Given the description of an element on the screen output the (x, y) to click on. 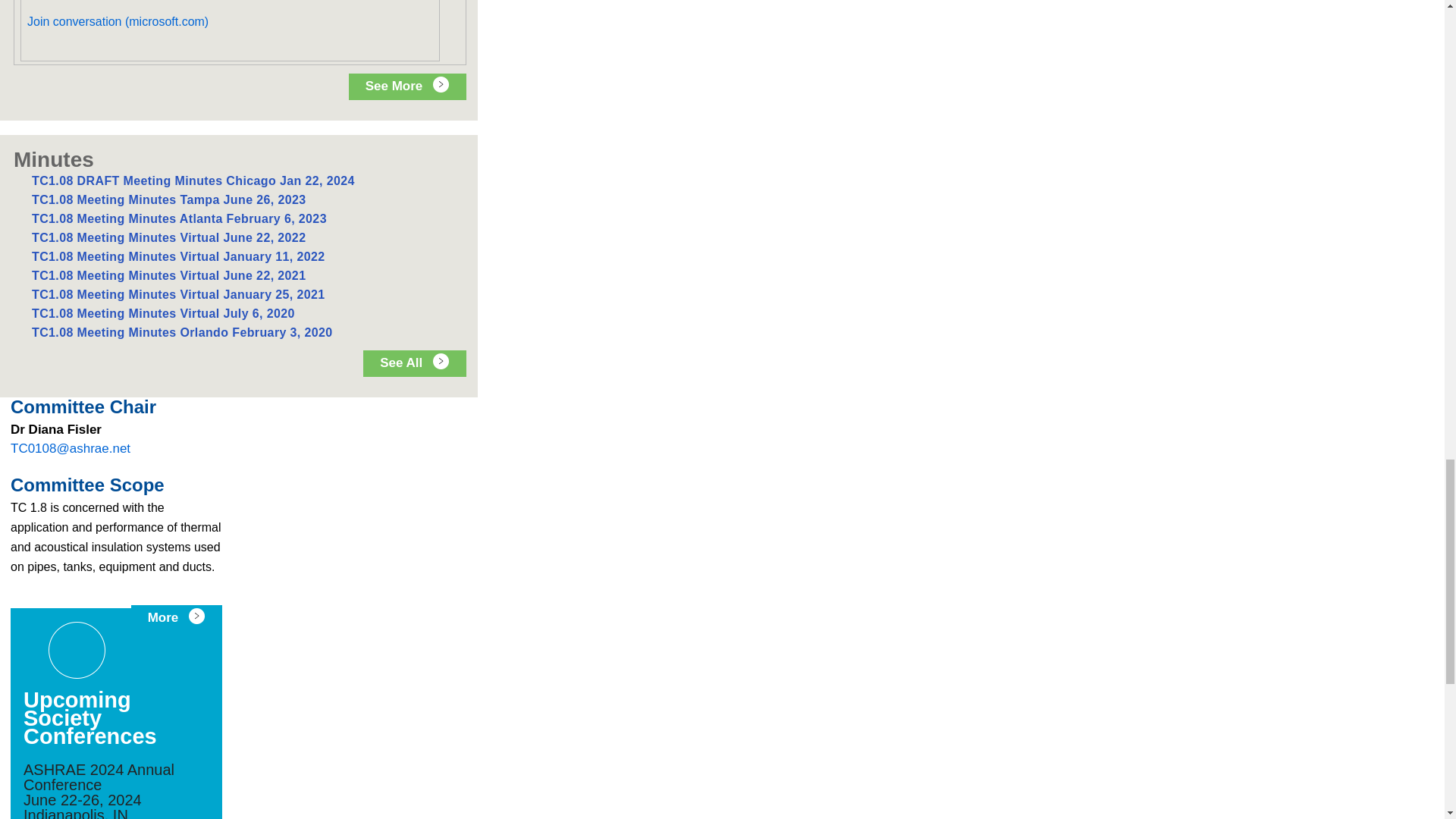
TC1.08 DRAFT Meeting Minutes Chicago Jan 22, 2024 (193, 180)
See More (407, 86)
TC1.08 Meeting Minutes Atlanta February 6, 2023 (179, 218)
TC1.08 Meeting Minutes Orlando February 3, 2020 (182, 332)
TC1.08 Meeting Minutes Tampa June 26, 2023 (168, 199)
TC1.08 Meeting Minutes Virtual June 22, 2022 (168, 237)
TC1.08 Meeting Minutes Virtual January 25, 2021 (178, 294)
See All (413, 363)
More (176, 618)
TC1.08 Meeting Minutes Virtual January 11, 2022 (178, 256)
TC1.08 Meeting Minutes Virtual June 22, 2021 (168, 275)
TC1.08 Meeting Minutes Virtual July 6, 2020 (163, 313)
